Given the description of an element on the screen output the (x, y) to click on. 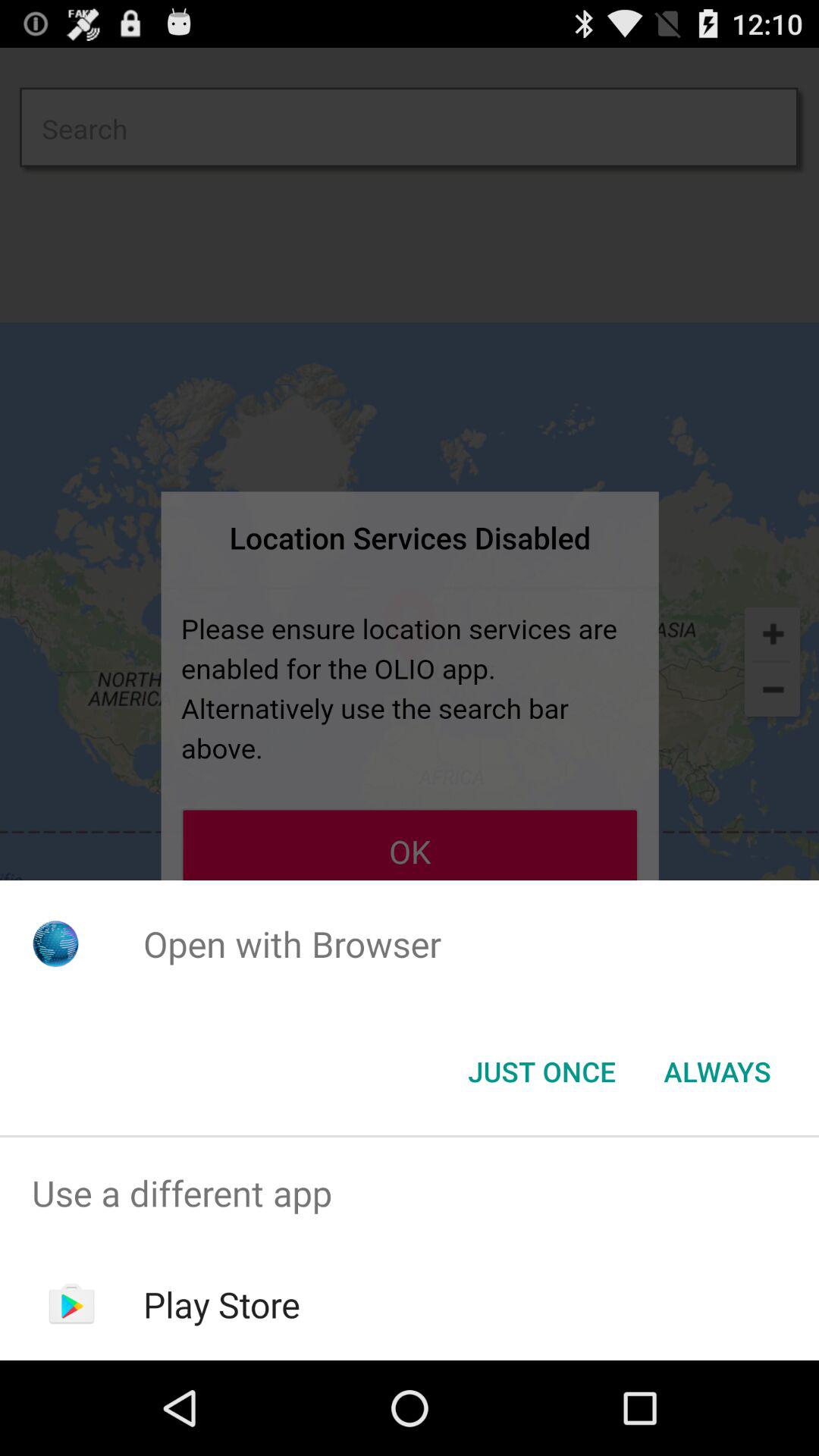
press the item above the play store app (409, 1192)
